Given the description of an element on the screen output the (x, y) to click on. 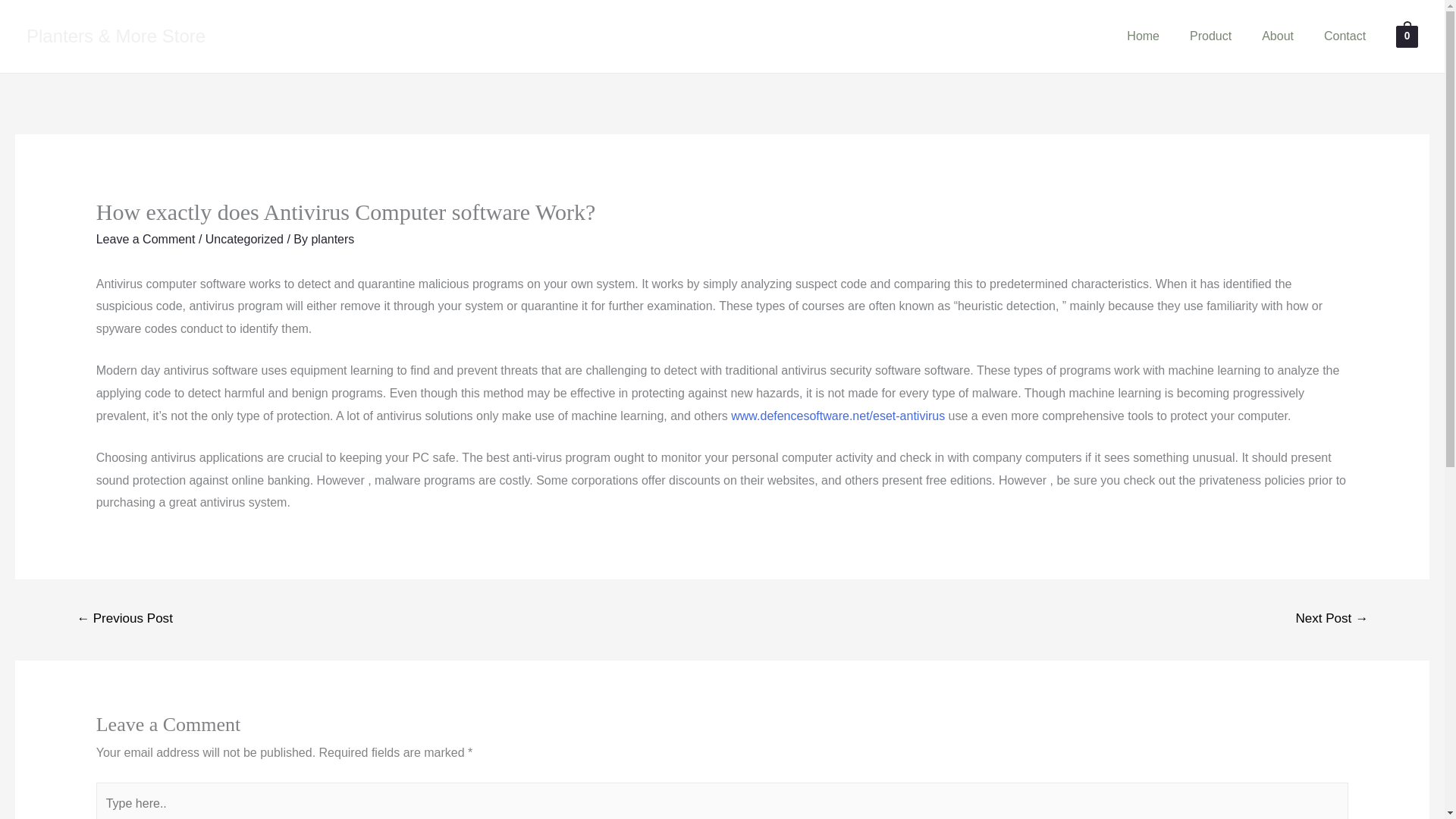
0 (1407, 35)
Contact (1344, 36)
planters (332, 238)
Uncategorized (244, 238)
Leave a Comment (145, 238)
View your shopping cart (1407, 35)
View all posts by planters (332, 238)
Product (1210, 36)
